Given the description of an element on the screen output the (x, y) to click on. 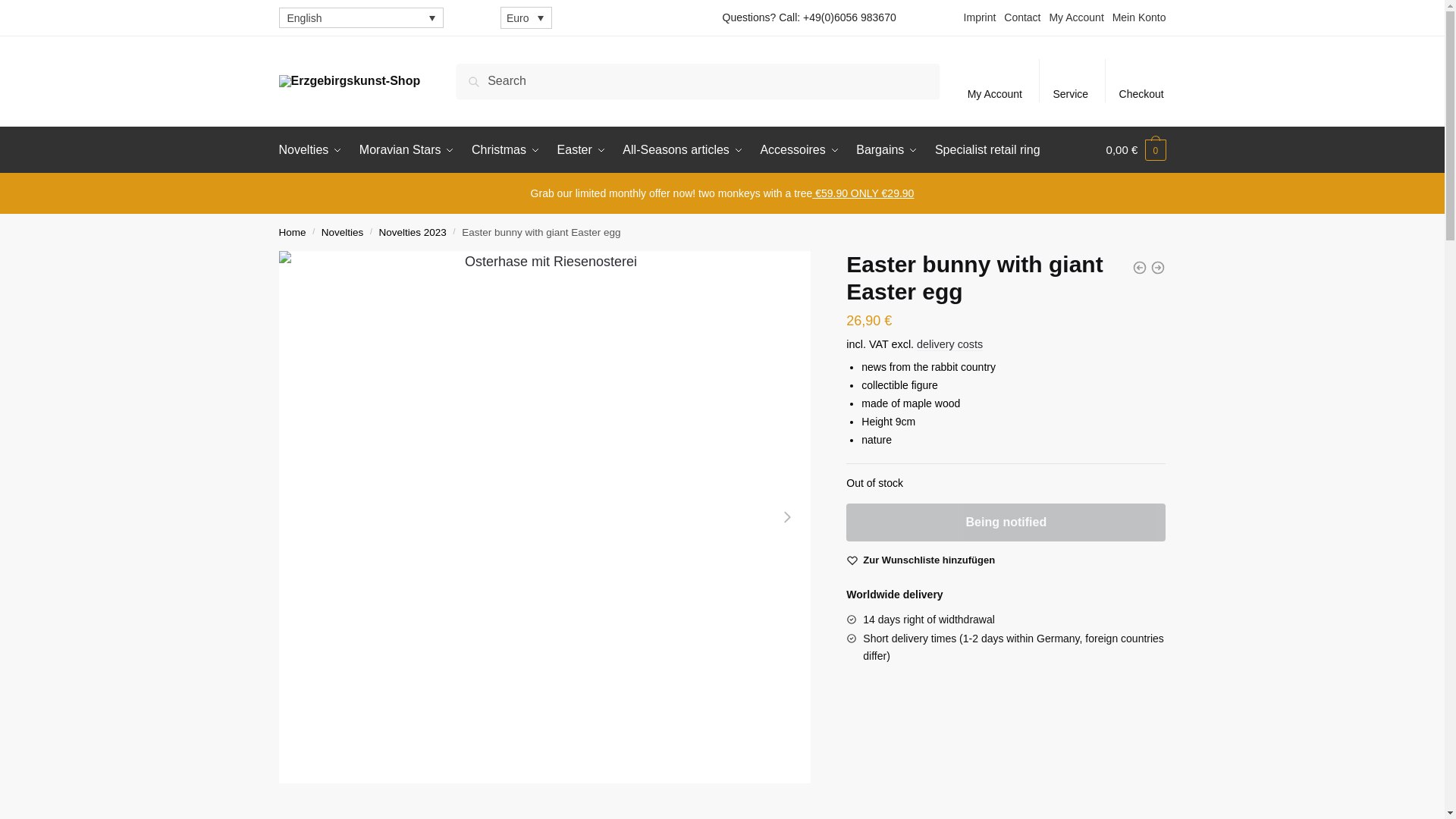
Service (1070, 80)
Mein Konto (1139, 16)
Novelties (314, 149)
Imprint (979, 16)
View your shopping cart (1136, 149)
Moravian Stars (406, 149)
Checkout (1141, 80)
My Account (994, 80)
Euro (525, 17)
